Given the description of an element on the screen output the (x, y) to click on. 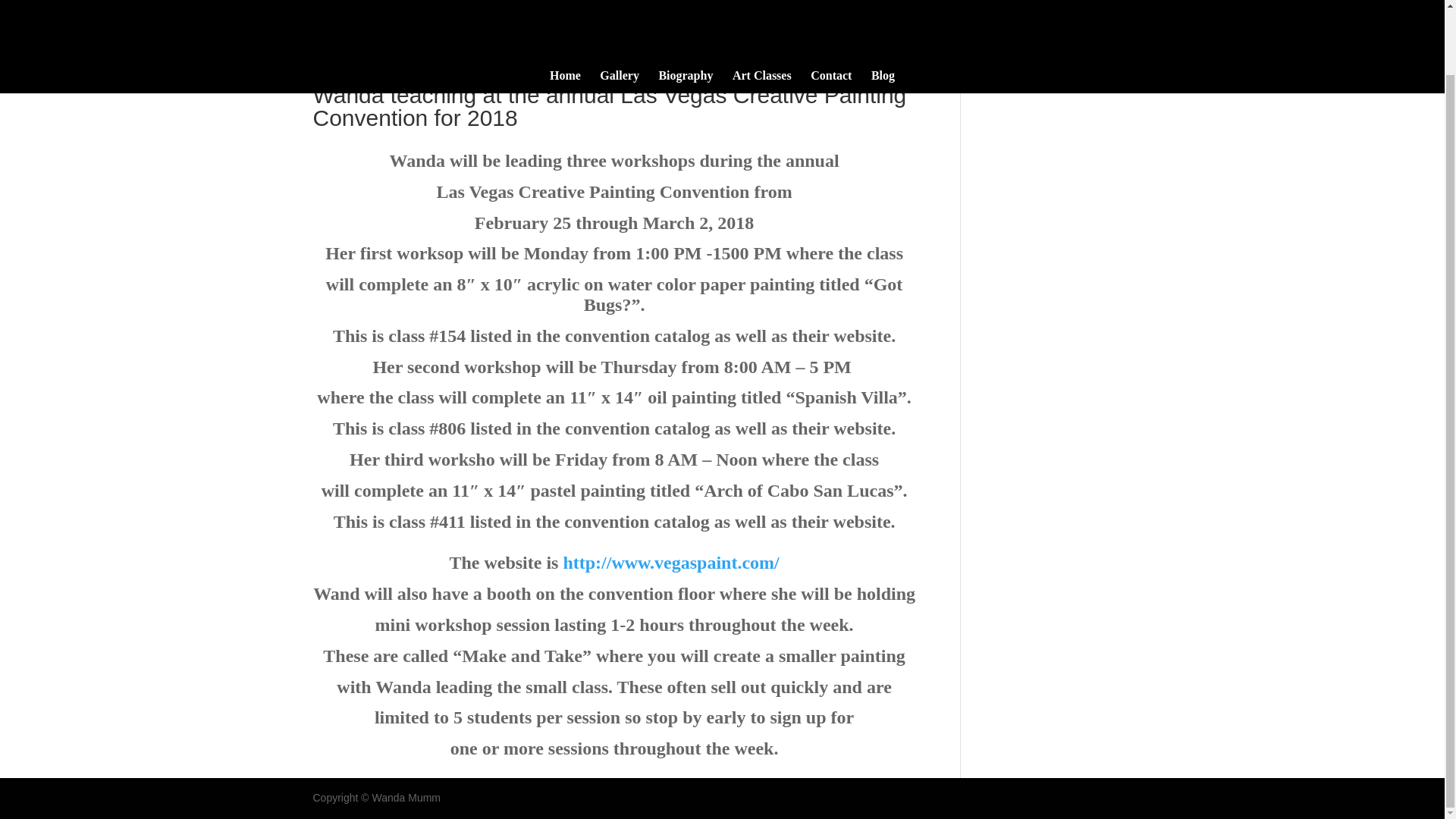
Home (565, 11)
Contact (830, 11)
Biography (685, 11)
Gallery (619, 11)
Blog (882, 11)
Art Classes (762, 11)
